Given the description of an element on the screen output the (x, y) to click on. 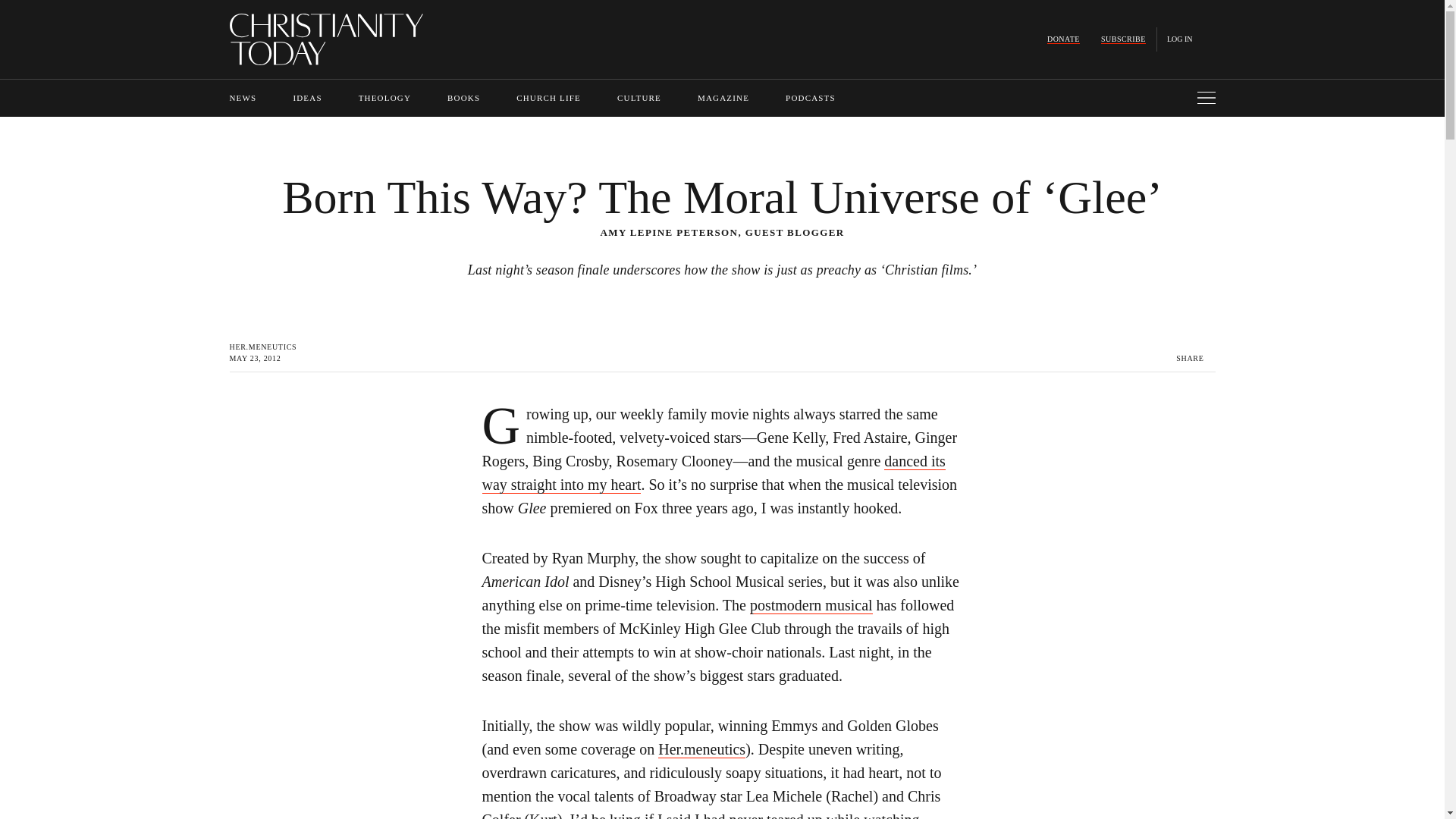
LOG IN (1179, 39)
MAGAZINE (723, 97)
DONATE (1063, 39)
PODCASTS (810, 97)
NEWS (242, 97)
SUBSCRIBE (1122, 39)
CHURCH LIFE (548, 97)
CULTURE (639, 97)
IDEAS (306, 97)
BOOKS (463, 97)
